Given the description of an element on the screen output the (x, y) to click on. 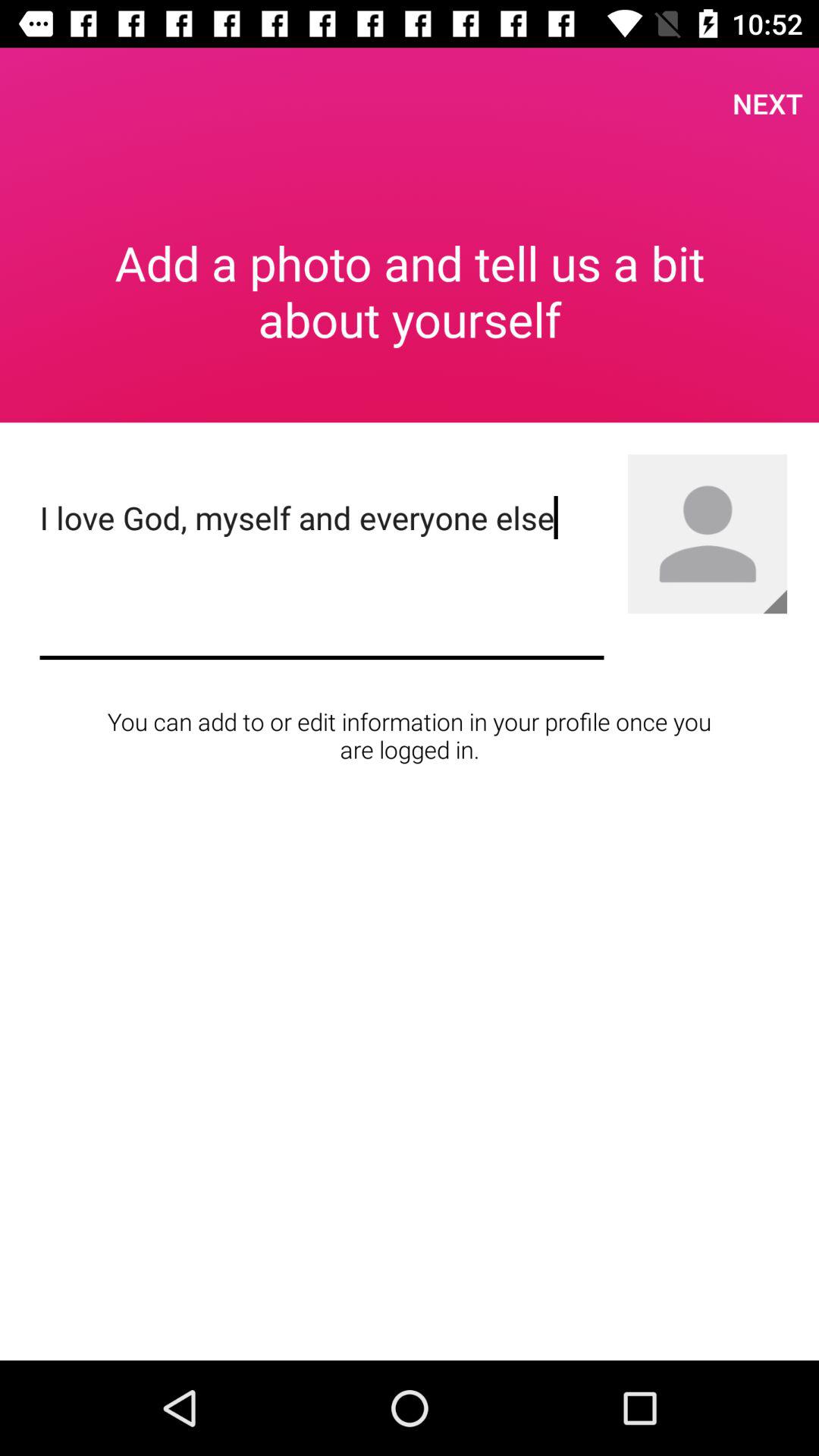
profile options (707, 533)
